Given the description of an element on the screen output the (x, y) to click on. 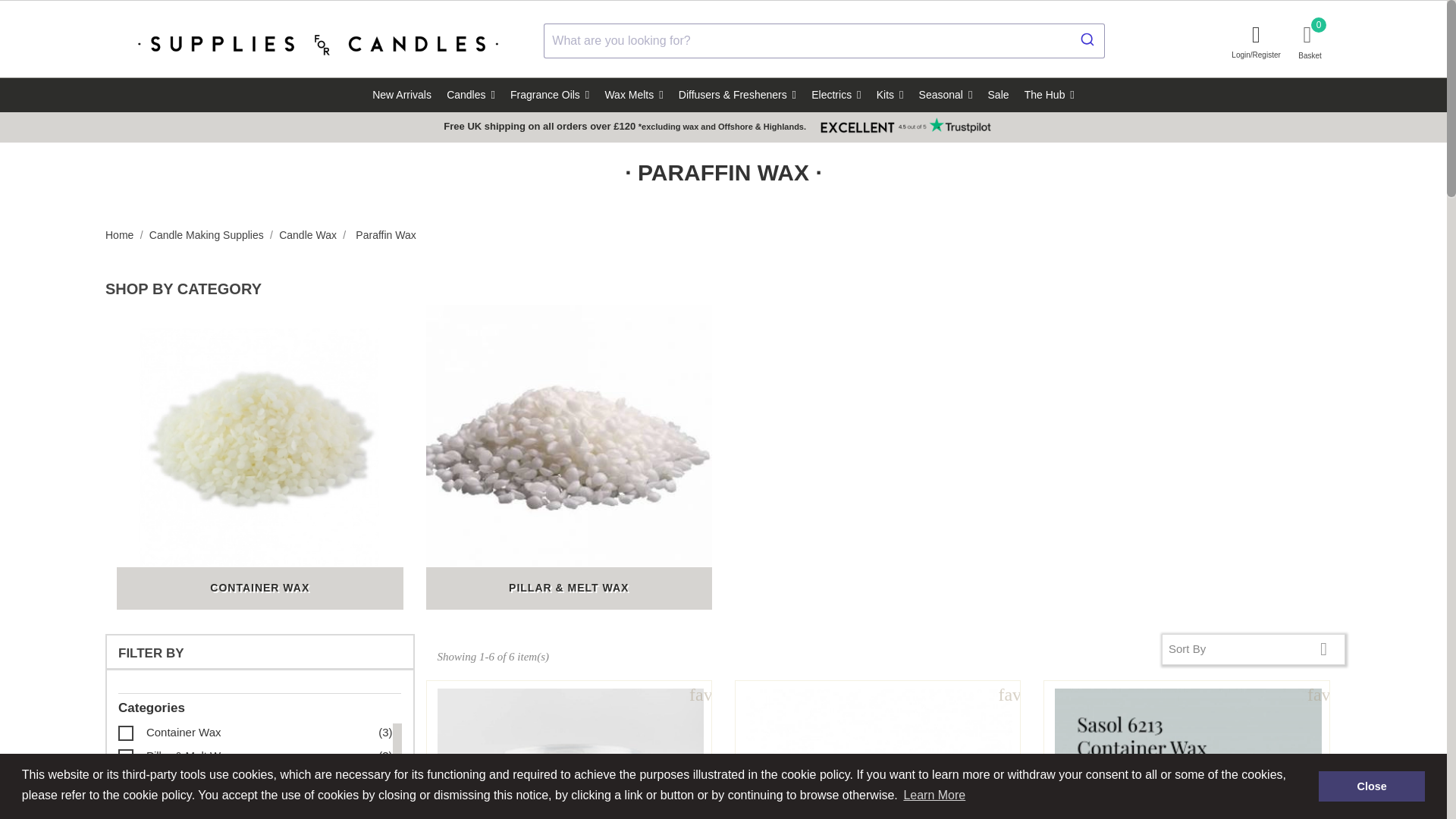
Close (1372, 786)
Submit (1085, 39)
Learn More (934, 794)
